Given the description of an element on the screen output the (x, y) to click on. 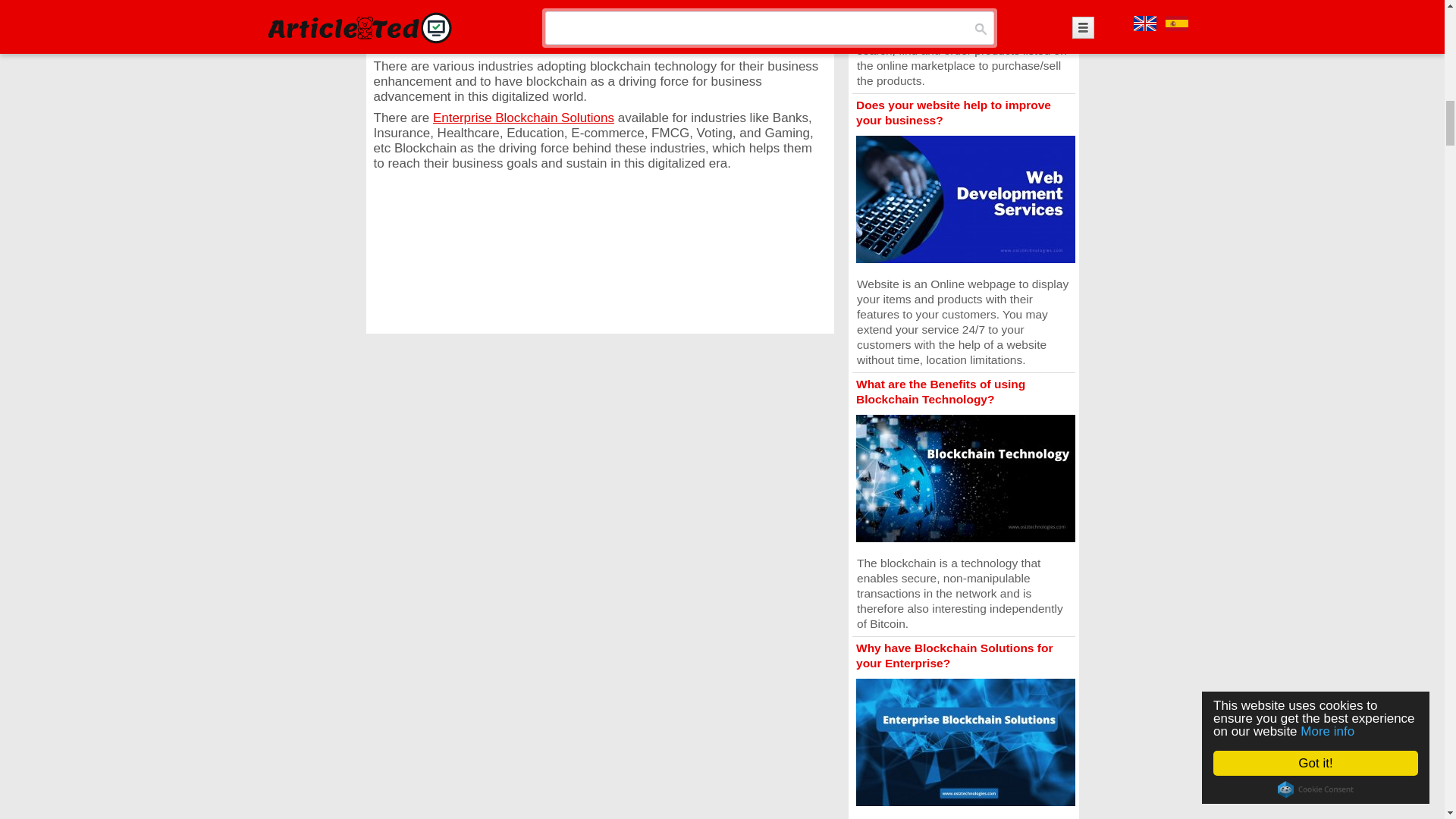
What are the Benefits of using Blockchain Technology? (940, 391)
Enterprise Blockchain Solutions (523, 117)
Why have Blockchain Solutions for your Enterprise? (954, 655)
Does your website help to improve your business? (953, 112)
